Given the description of an element on the screen output the (x, y) to click on. 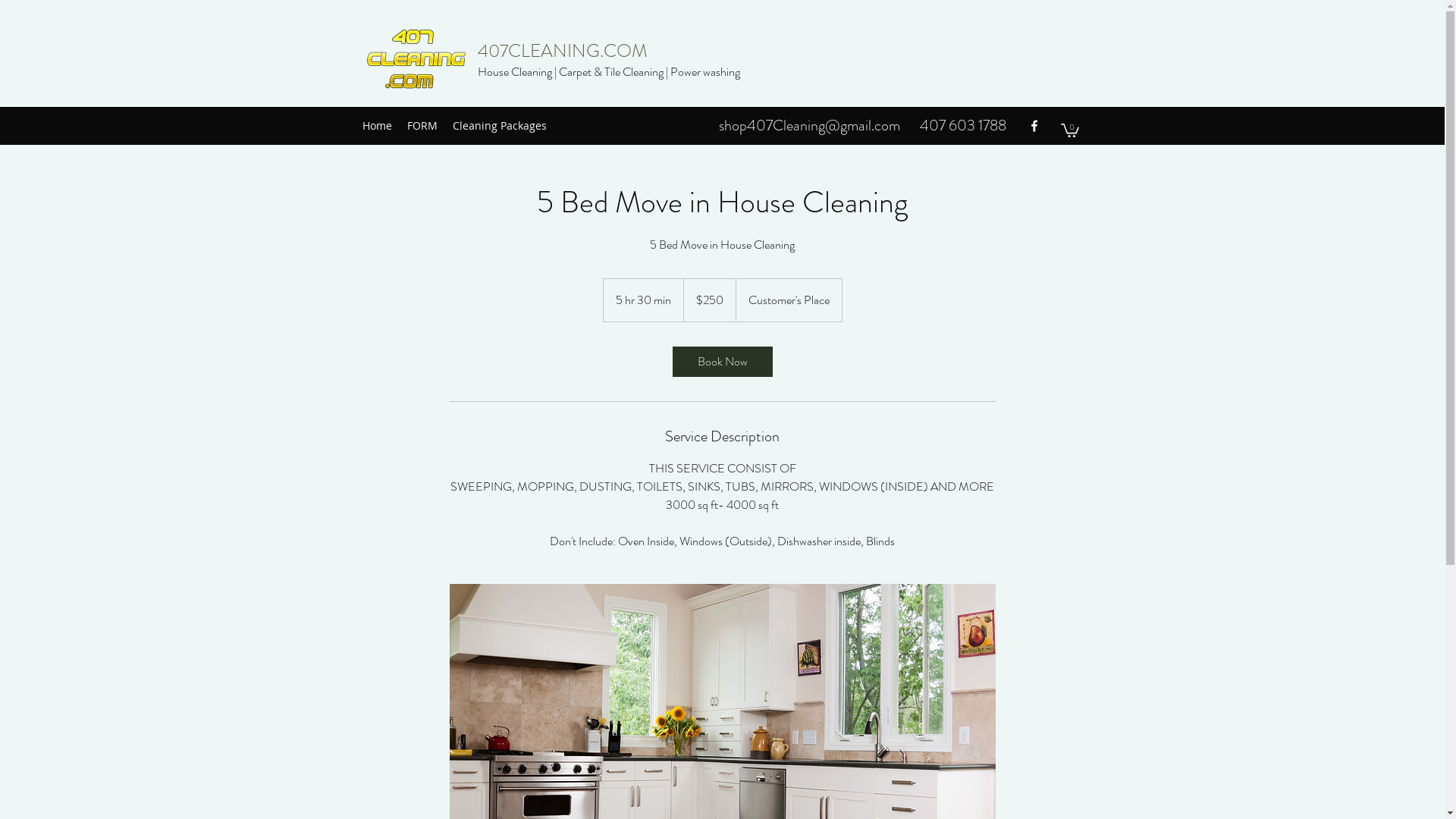
FORM Element type: text (421, 125)
Cleaning Packages Element type: text (498, 125)
0 Element type: text (1069, 129)
Book Now Element type: text (721, 361)
shop407Cleaning@gmail.com Element type: text (809, 125)
Home Element type: text (376, 125)
